Given the description of an element on the screen output the (x, y) to click on. 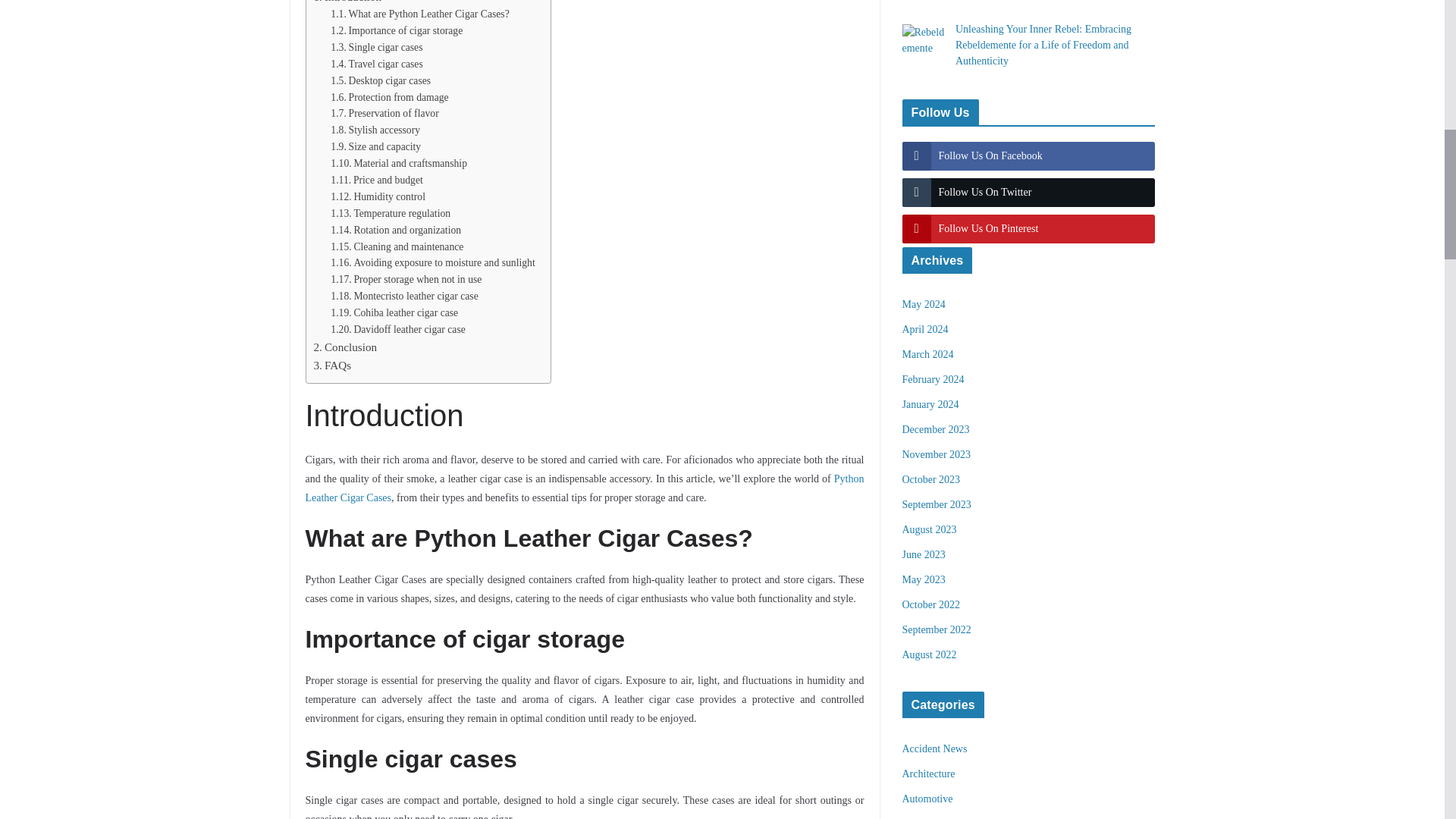
Single cigar cases (376, 47)
Desktop cigar cases (380, 80)
Importance of cigar storage (396, 30)
Introduction (347, 2)
Introduction (347, 2)
Importance of cigar storage (396, 30)
What are Python Leather Cigar Cases? (419, 13)
What are Python Leather Cigar Cases? (419, 13)
Single cigar cases (376, 47)
Travel cigar cases (376, 64)
